Given the description of an element on the screen output the (x, y) to click on. 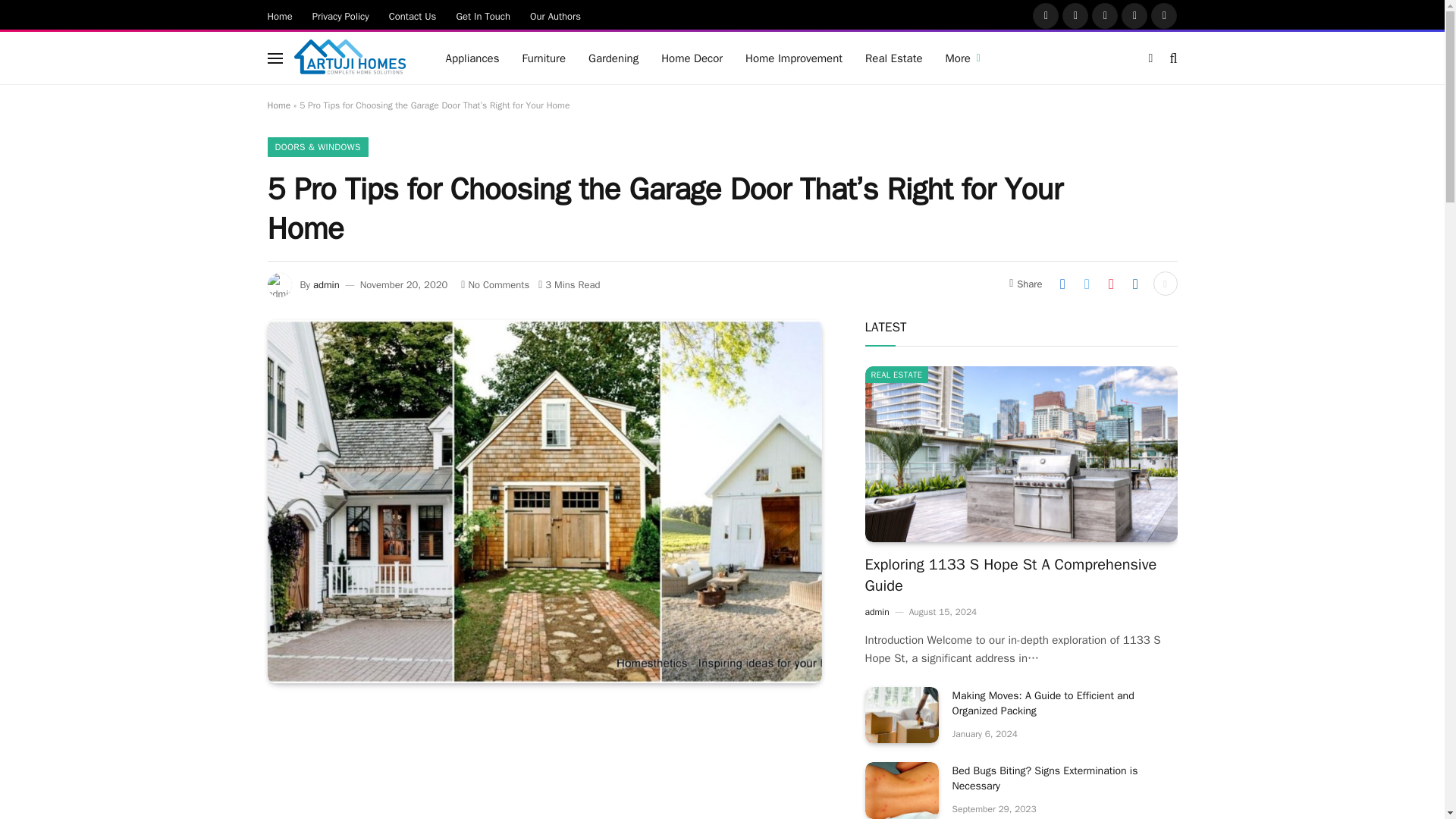
Contact Us (412, 15)
Home Decor (691, 57)
Home Improvement (793, 57)
Furniture (544, 57)
More (962, 57)
Pinterest (1134, 15)
Home (279, 15)
Appliances (472, 57)
Artuji (350, 58)
Instagram (1105, 15)
